Given the description of an element on the screen output the (x, y) to click on. 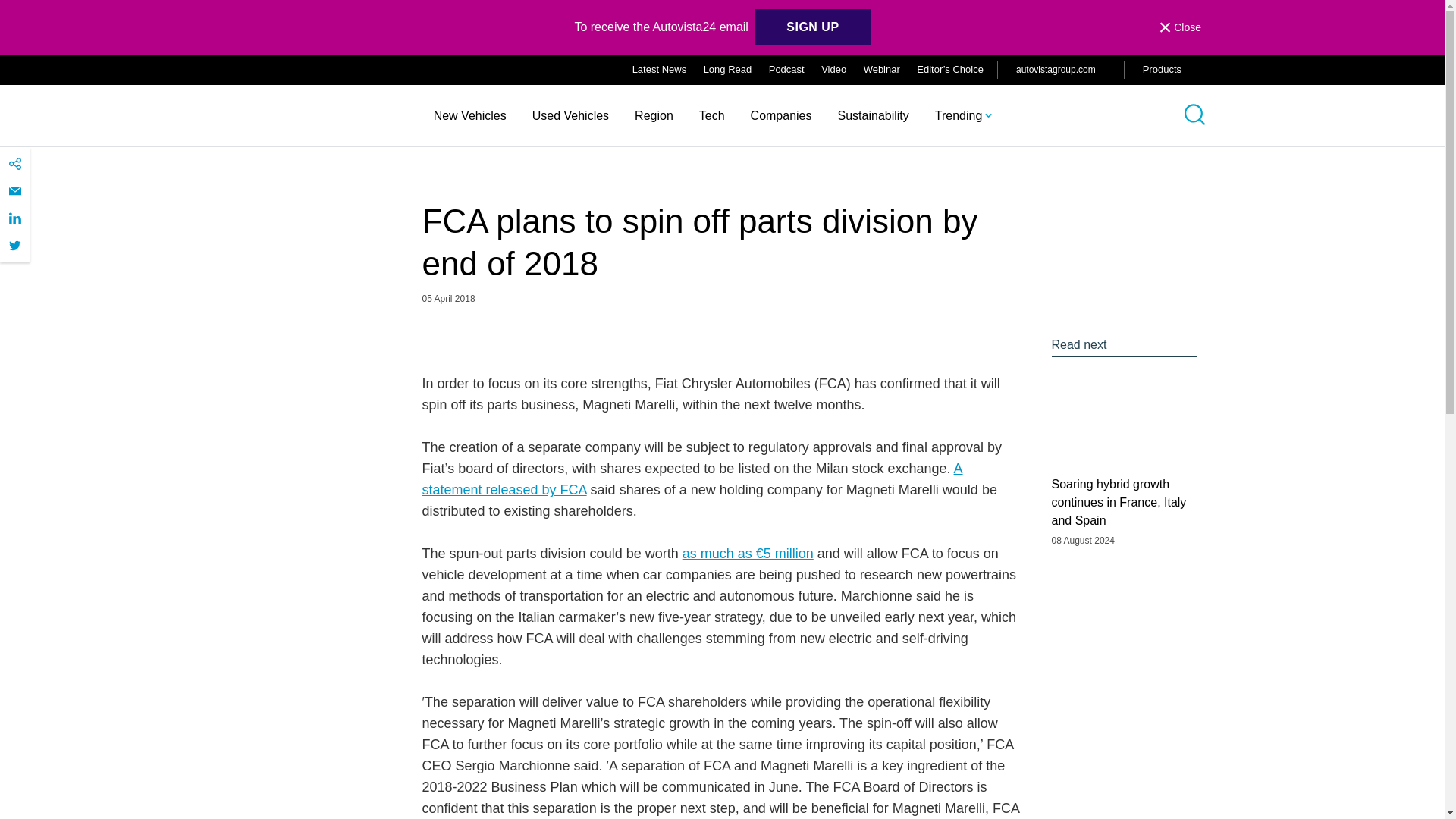
SIGN UP (812, 27)
Latest News (659, 69)
Video (833, 69)
Webinar (881, 69)
Products (1173, 69)
autovistagroup.com (1060, 69)
Long Read (727, 69)
Podcast (786, 69)
